Given the description of an element on the screen output the (x, y) to click on. 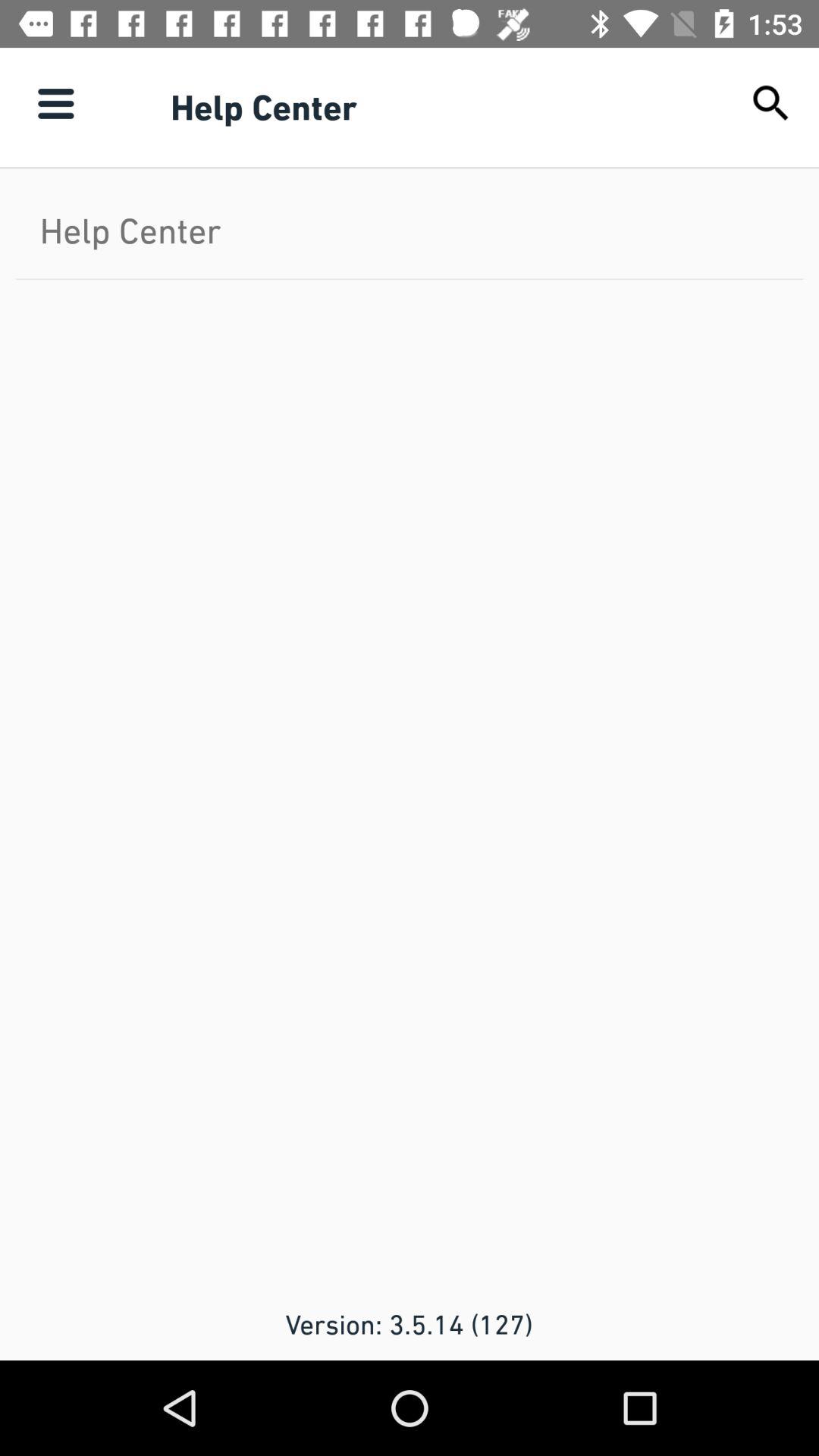
choose item next to the help center icon (771, 103)
